Given the description of an element on the screen output the (x, y) to click on. 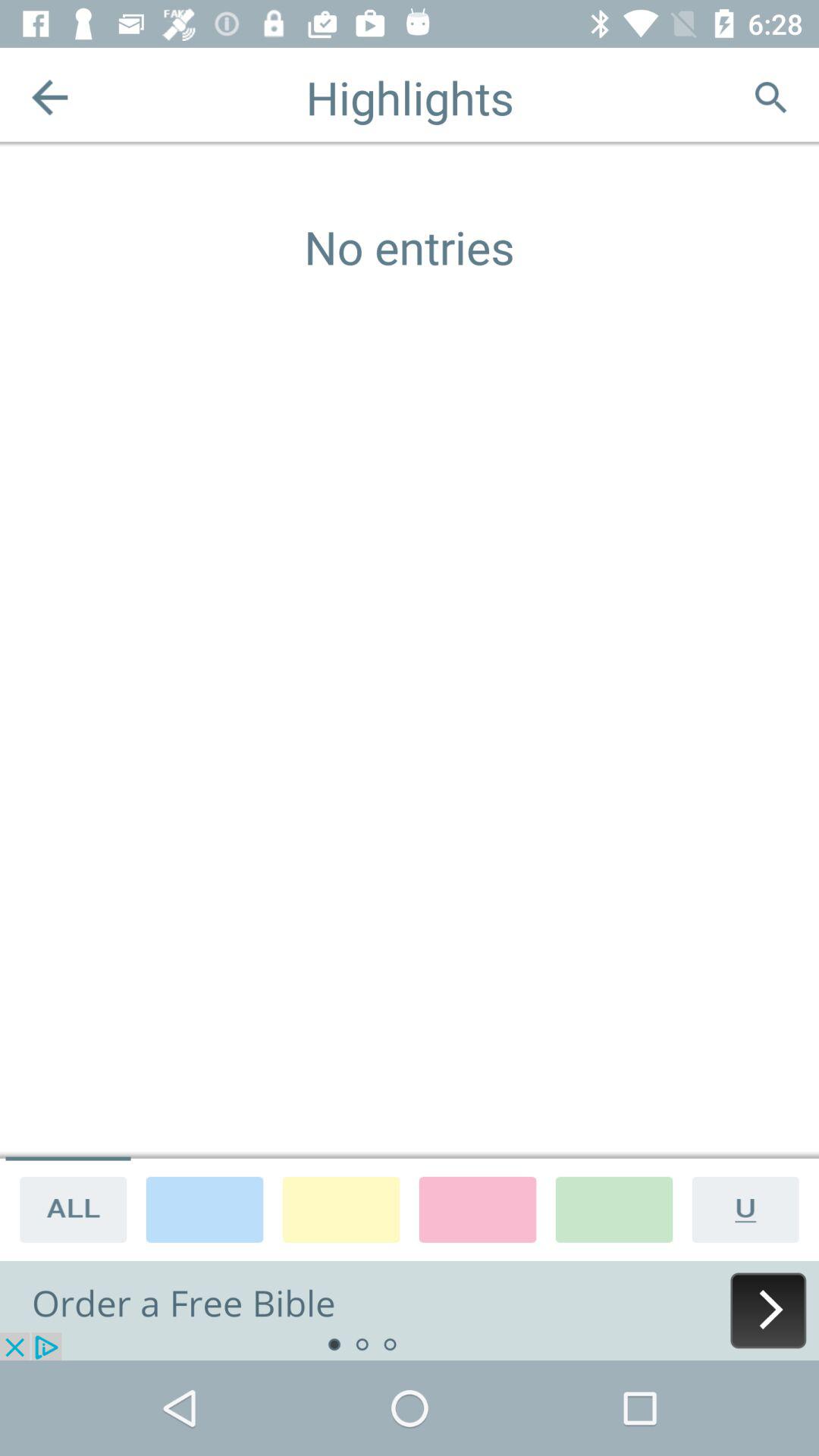
select color (204, 1208)
